Given the description of an element on the screen output the (x, y) to click on. 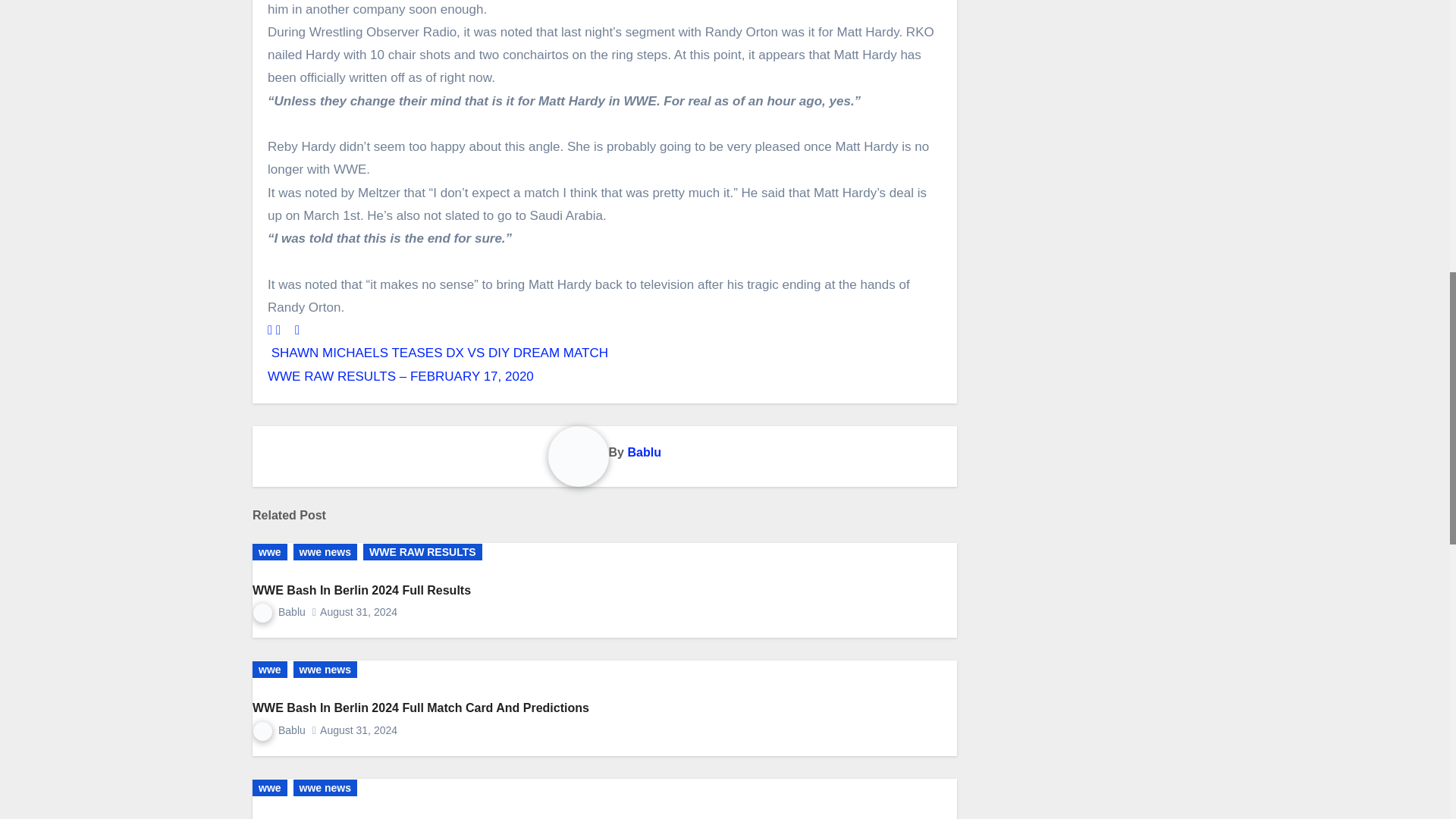
SHAWN MICHAELS TEASES DX VS DIY DREAM MATCH (437, 352)
Permalink to: WWE Bash In Berlin 2024 Full Results (360, 590)
